Given the description of an element on the screen output the (x, y) to click on. 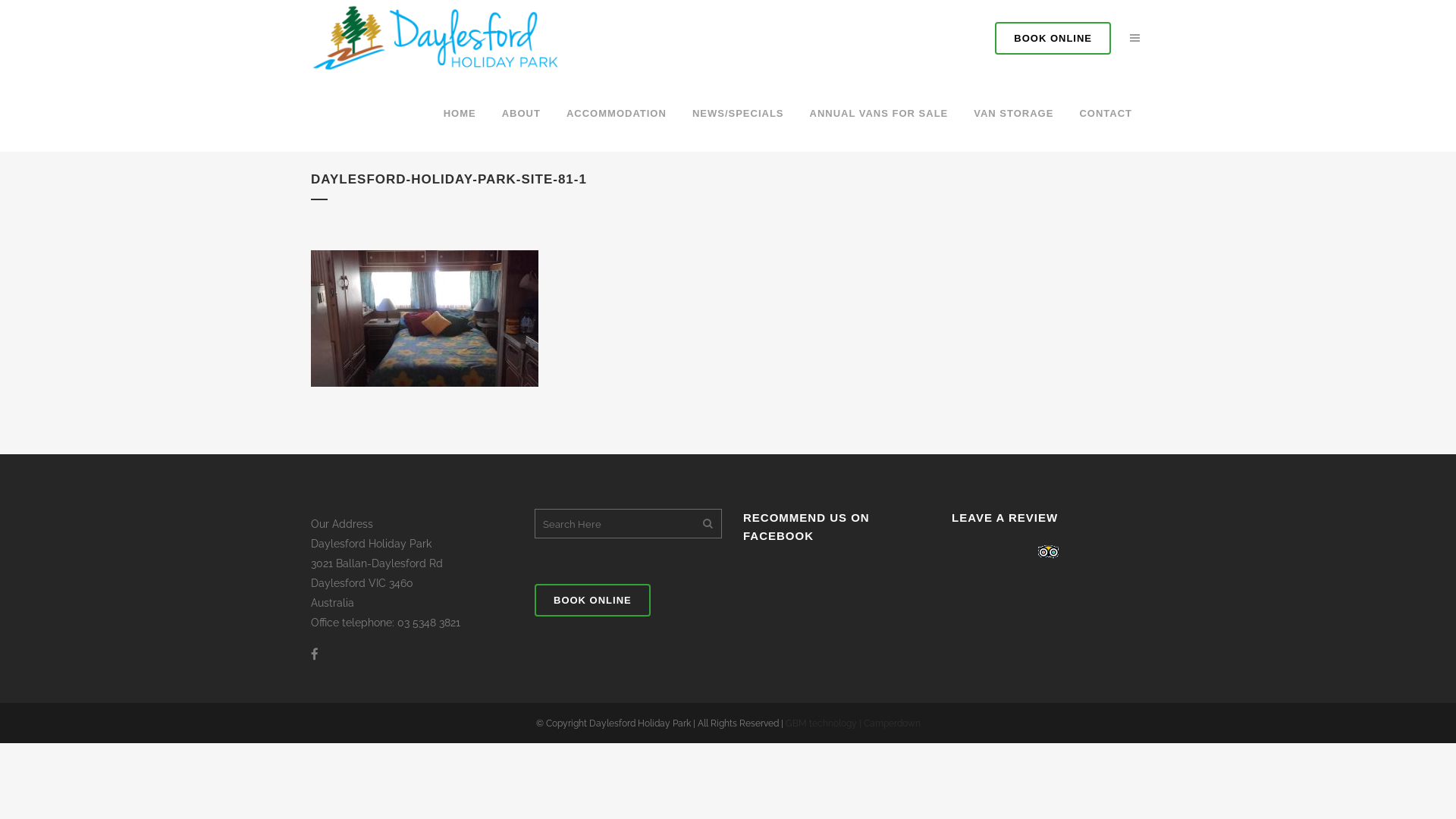
HOME Element type: text (459, 113)
VAN STORAGE Element type: text (1013, 113)
BOOK ONLINE Element type: text (1052, 37)
GBM technology | Camperdown Element type: text (852, 722)
  Element type: text (1134, 37)
NEWS/SPECIALS Element type: text (738, 113)
BOOK ONLINE Element type: text (592, 599)
ACCOMMODATION Element type: text (616, 113)
CONTACT Element type: text (1105, 113)
ABOUT Element type: text (521, 113)
ANNUAL VANS FOR SALE Element type: text (878, 113)
